Given the description of an element on the screen output the (x, y) to click on. 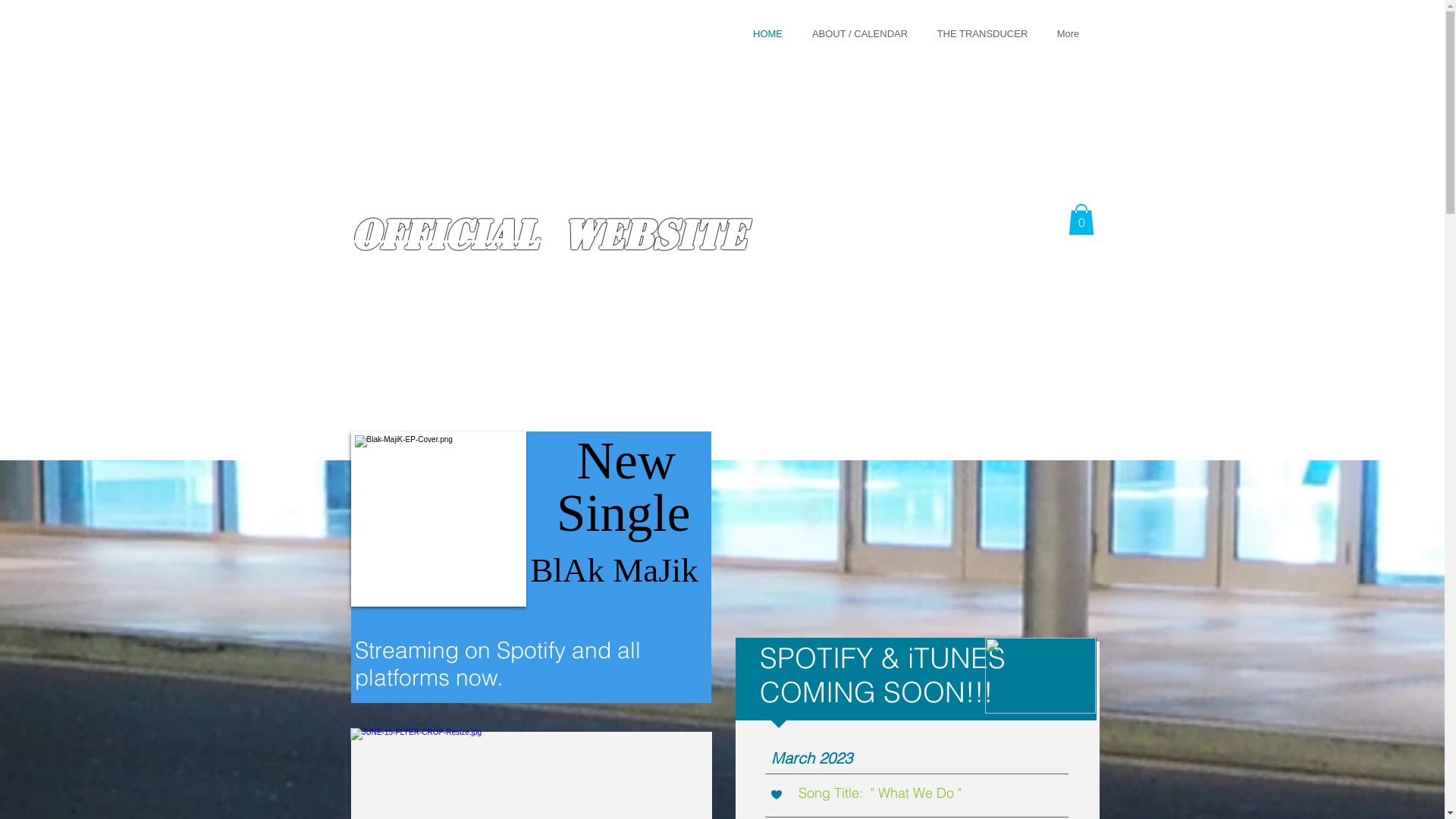
THE TRANSDUCER Element type: text (981, 33)
Blak Ace Element type: text (418, 29)
0 Element type: text (1080, 219)
HOME Element type: text (767, 33)
ABOUT / CALENDAR Element type: text (859, 33)
